Given the description of an element on the screen output the (x, y) to click on. 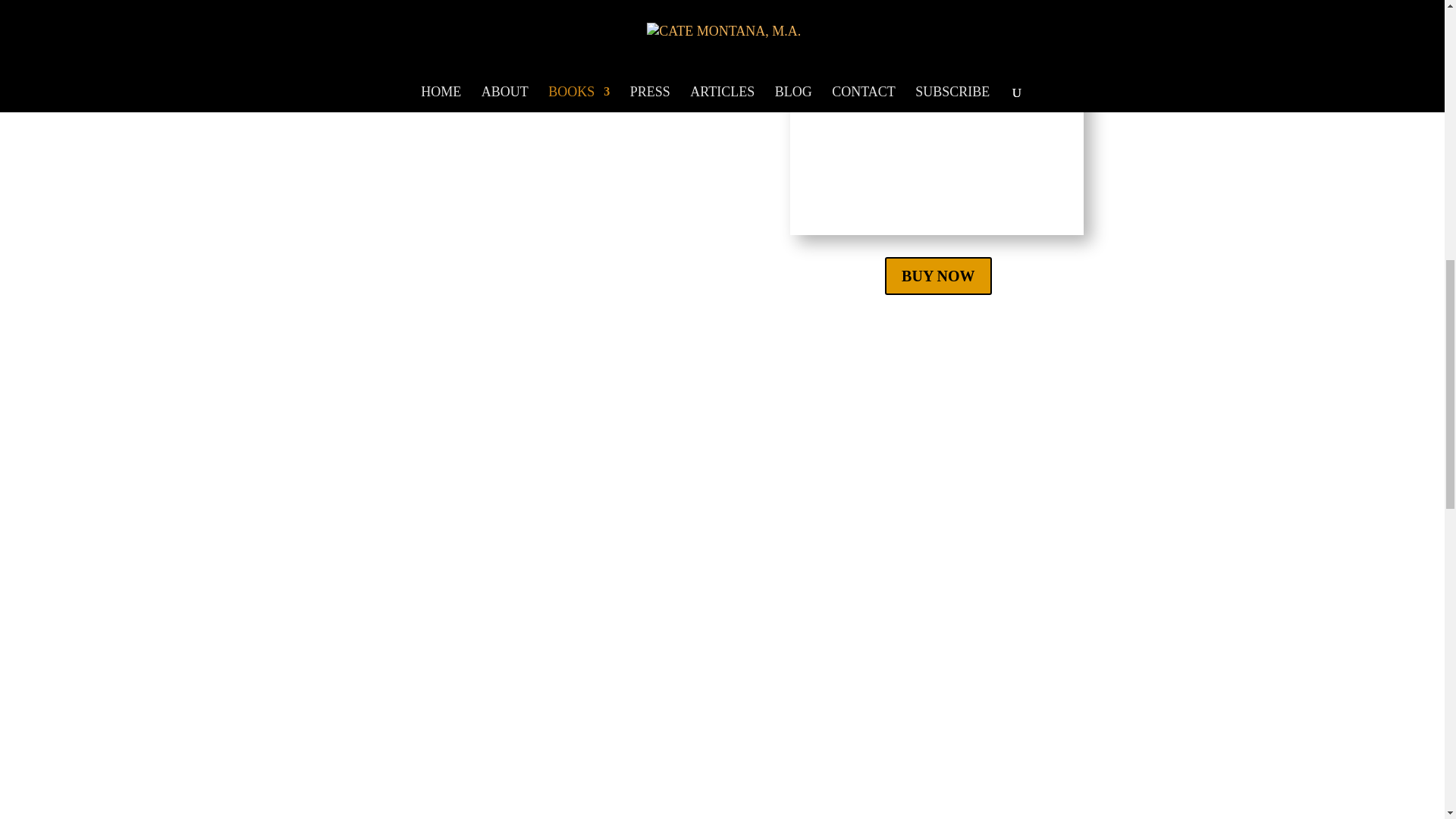
BUY NOW (938, 275)
